Given the description of an element on the screen output the (x, y) to click on. 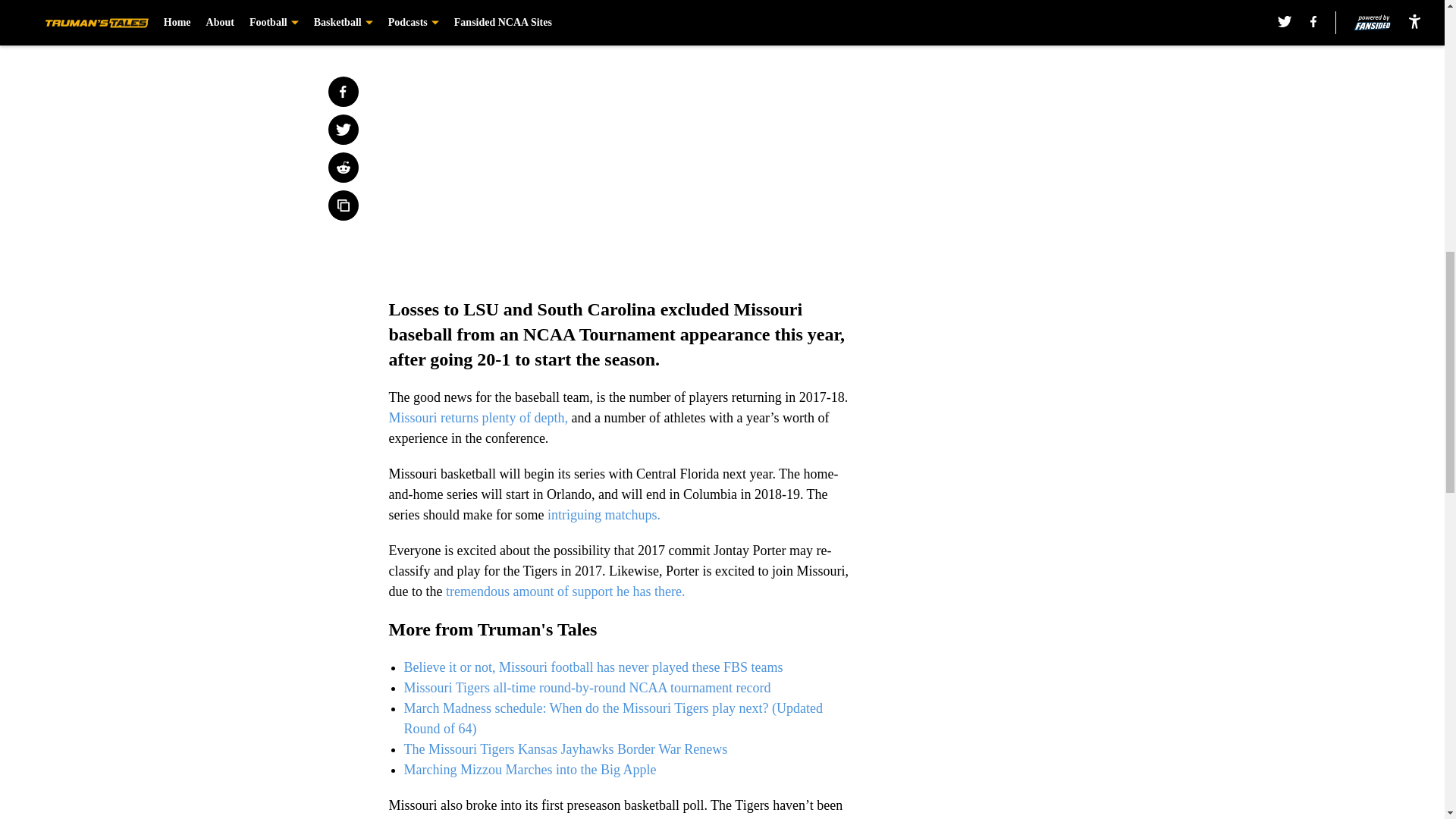
tremendous amount of support he has there.  (566, 590)
The Missouri Tigers Kansas Jayhawks Border War Renews (564, 749)
intriguing matchups. (604, 514)
Marching Mizzou Marches into the Big Apple (529, 769)
Missouri returns plenty of depth, (477, 417)
